Given the description of an element on the screen output the (x, y) to click on. 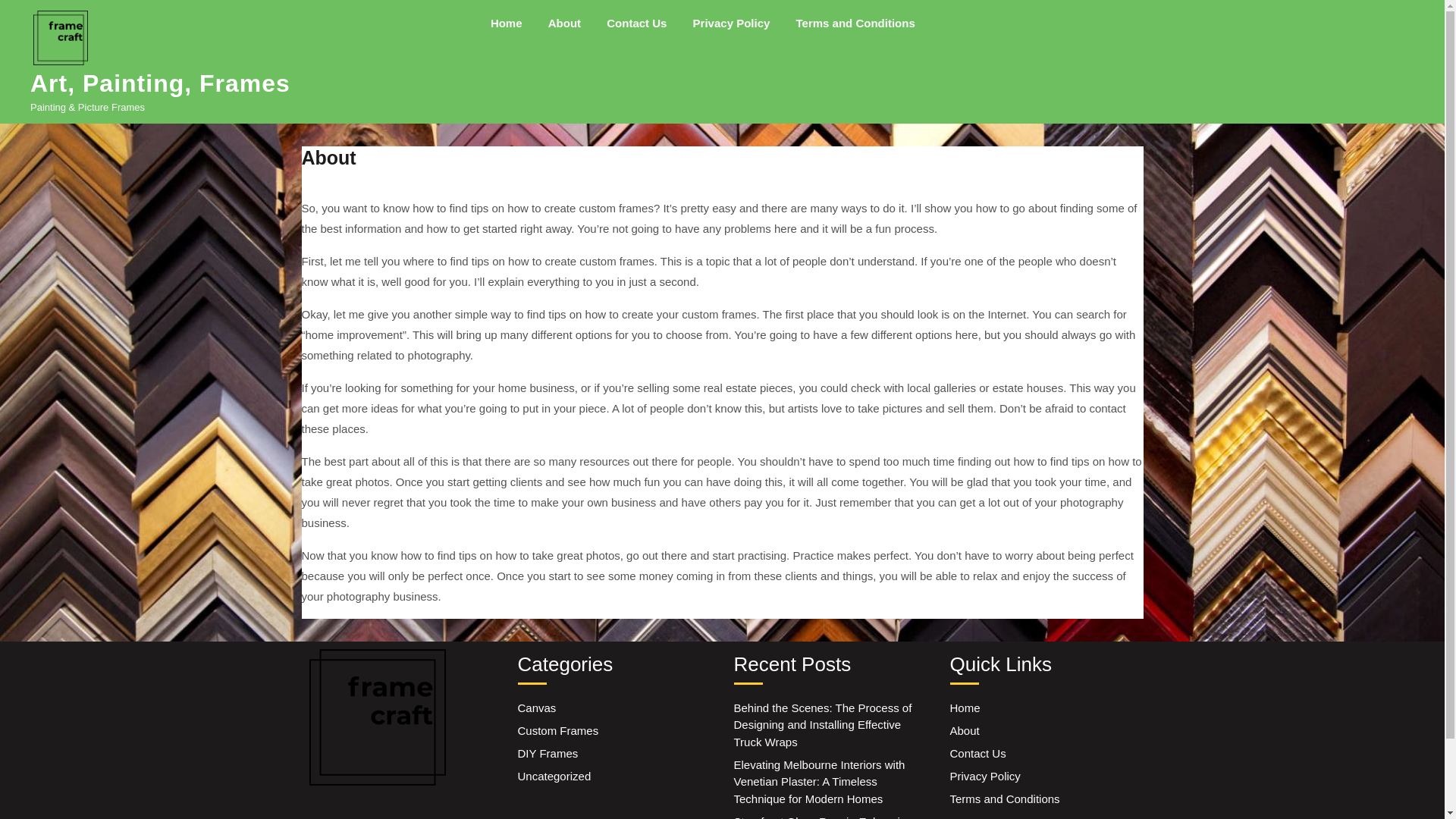
Terms and Conditions (855, 23)
Art, Painting, Frames (159, 83)
About (564, 23)
Privacy Policy (984, 775)
Contact Us (977, 753)
Storefront Glass Repair: Enhancing Curb Appeal and Security (822, 816)
Terms and Conditions (1004, 798)
Home (506, 23)
Contact Us (636, 23)
Uncategorized (553, 775)
Custom Frames (557, 730)
DIY Frames (547, 753)
Home (964, 707)
Canvas (536, 707)
